Given the description of an element on the screen output the (x, y) to click on. 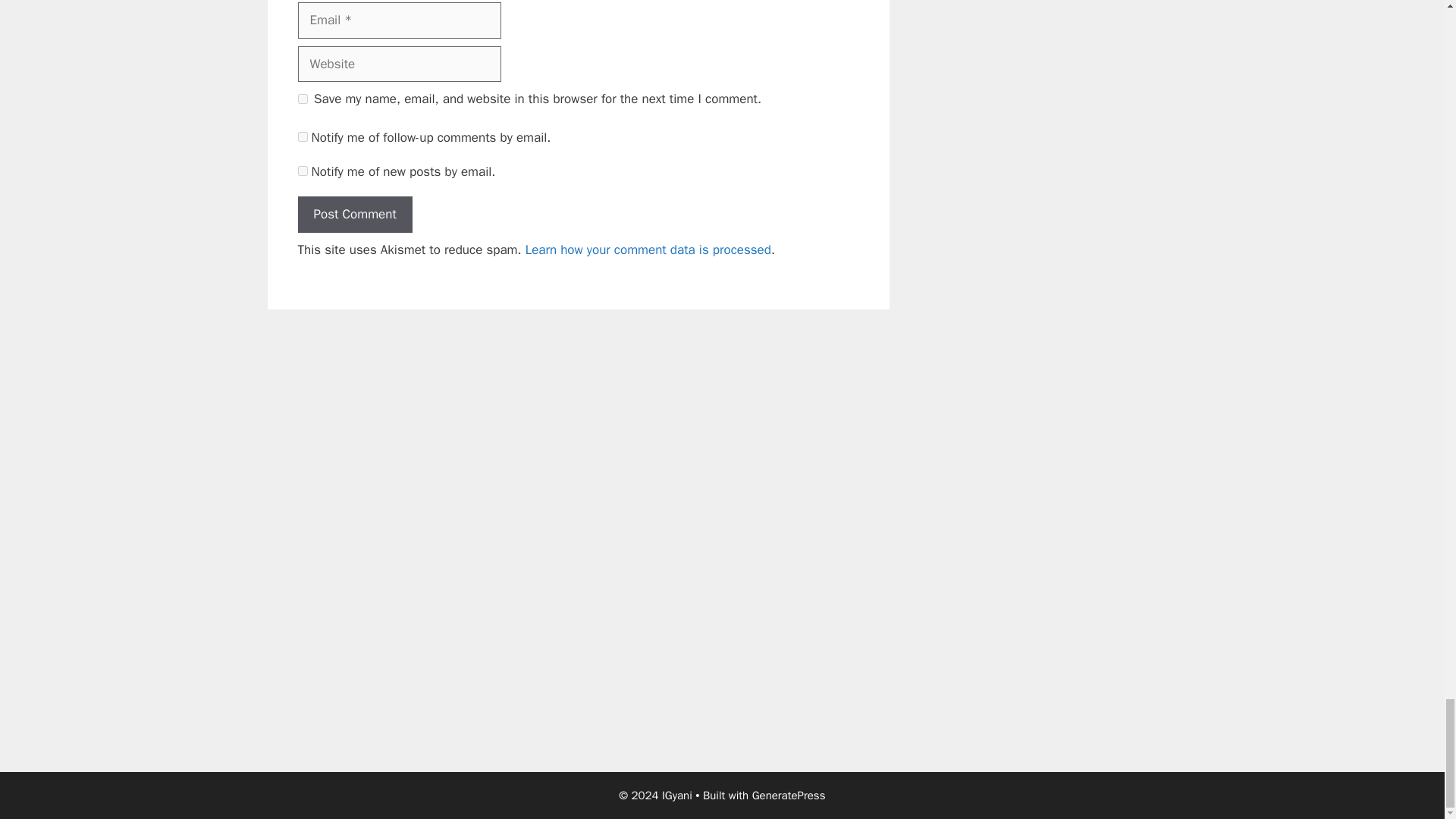
yes (302, 99)
subscribe (302, 136)
subscribe (302, 171)
Post Comment (354, 214)
